Given the description of an element on the screen output the (x, y) to click on. 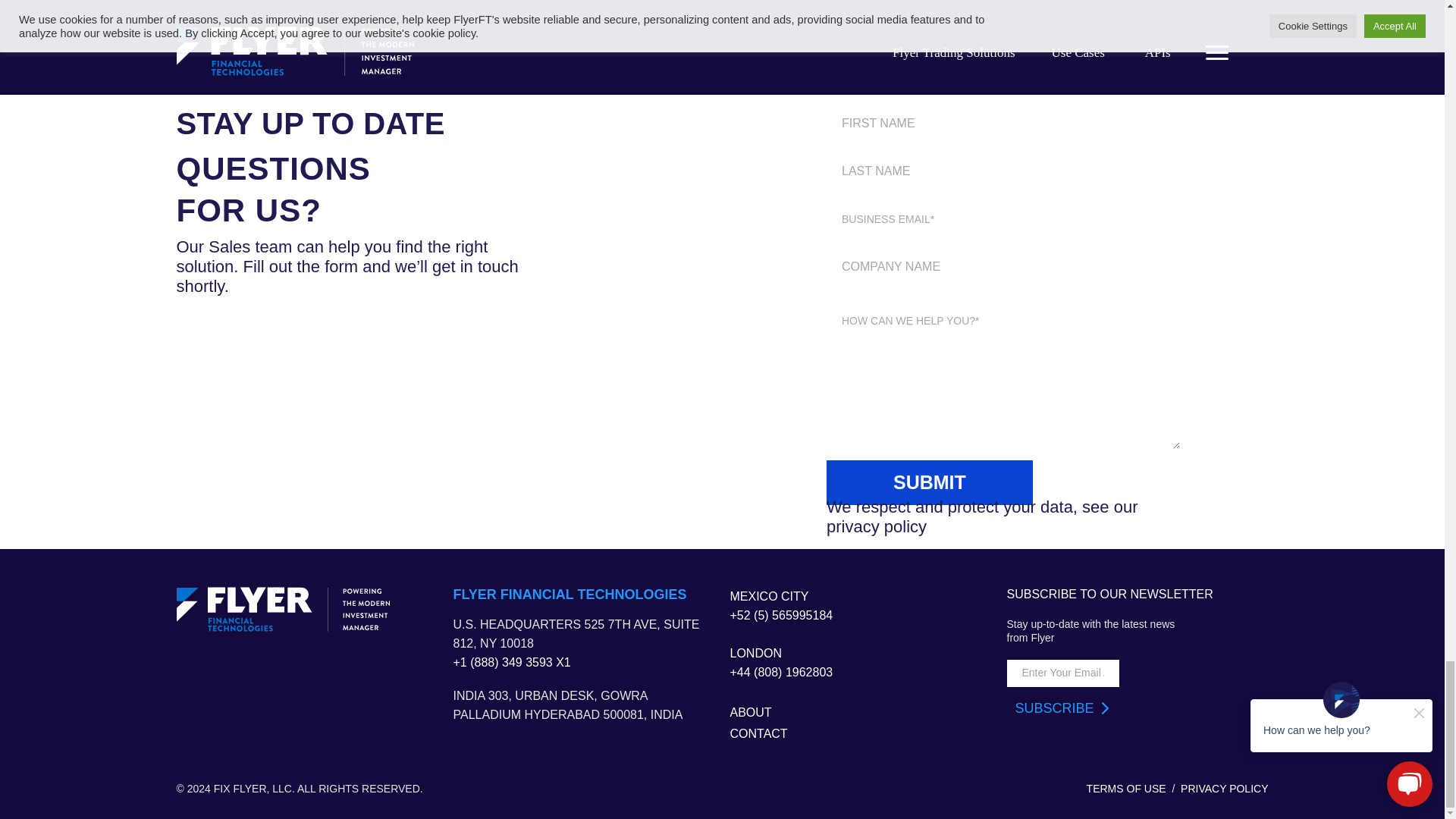
Submit (929, 482)
